Given the description of an element on the screen output the (x, y) to click on. 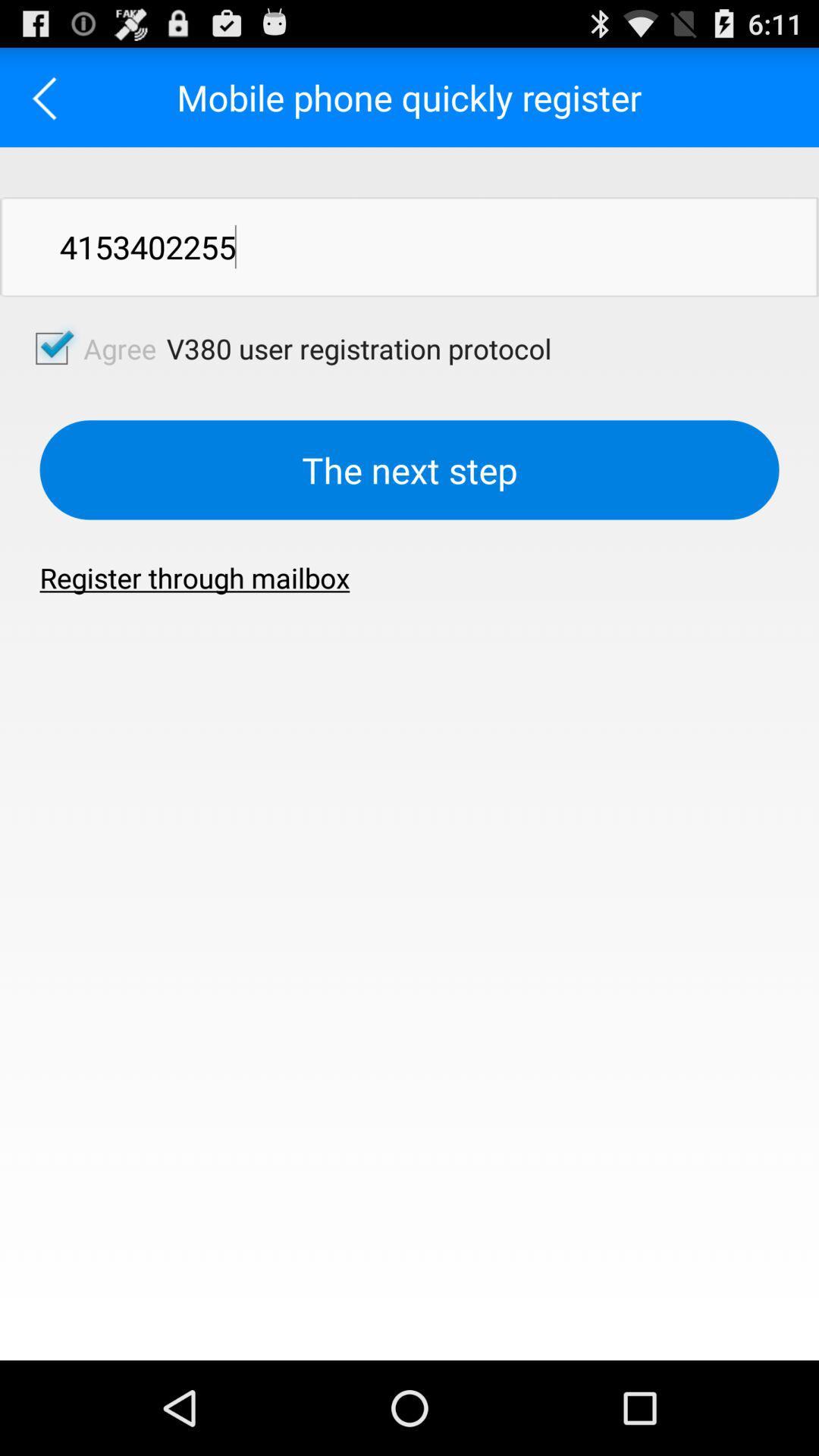
agreement checkbox (51, 348)
